Given the description of an element on the screen output the (x, y) to click on. 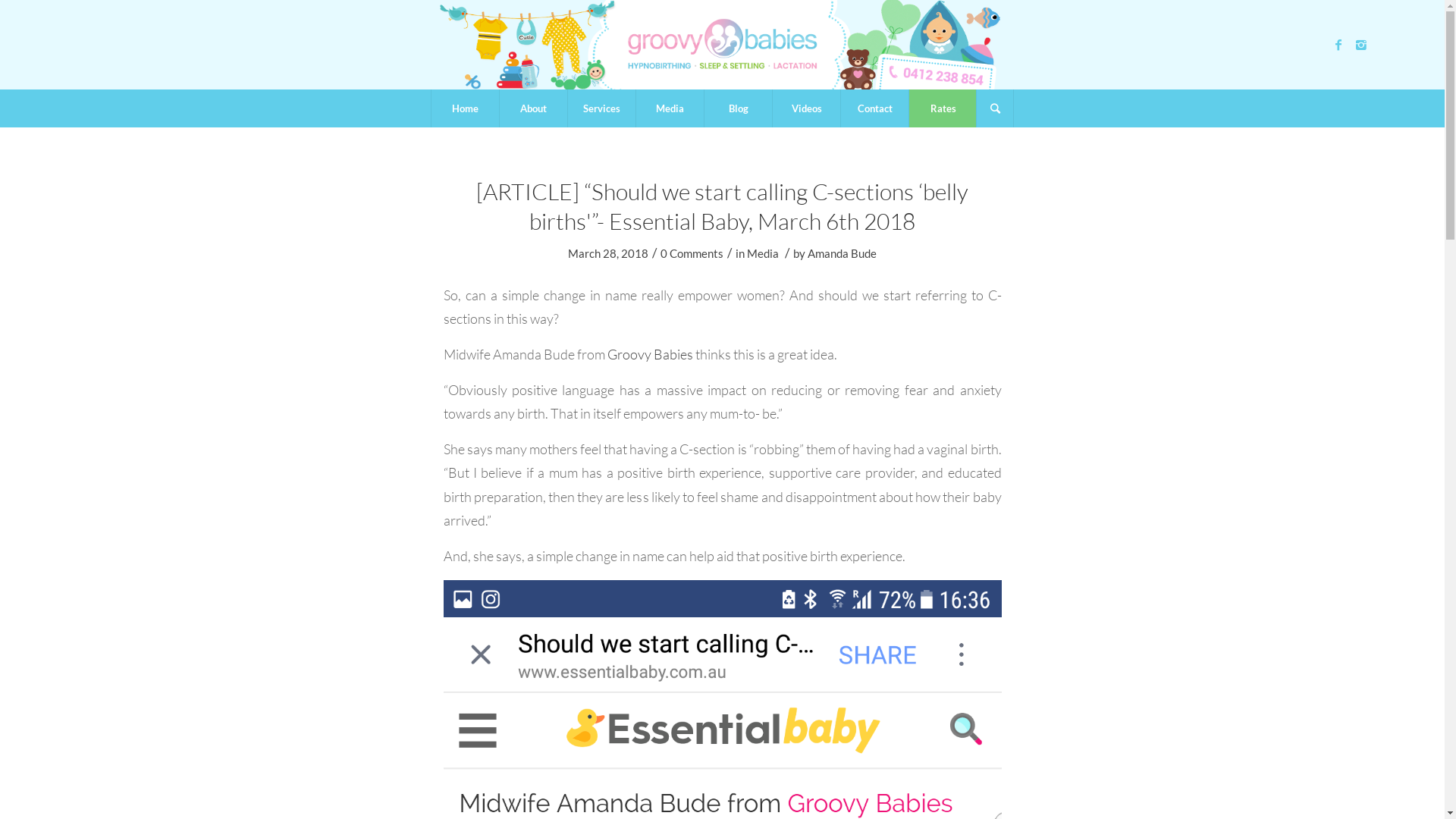
Instagram Element type: hover (1360, 44)
Media Element type: text (669, 108)
About Element type: text (532, 108)
0 Comments Element type: text (691, 253)
Services Element type: text (601, 108)
Media Element type: text (762, 253)
Home Element type: text (464, 108)
Amanda Bude Element type: text (841, 253)
Blog Element type: text (737, 108)
Videos Element type: text (805, 108)
Facebook Element type: hover (1338, 44)
Contact Element type: text (874, 108)
Groovy Babies Element type: text (649, 353)
Rates Element type: text (942, 108)
